Given the description of an element on the screen output the (x, y) to click on. 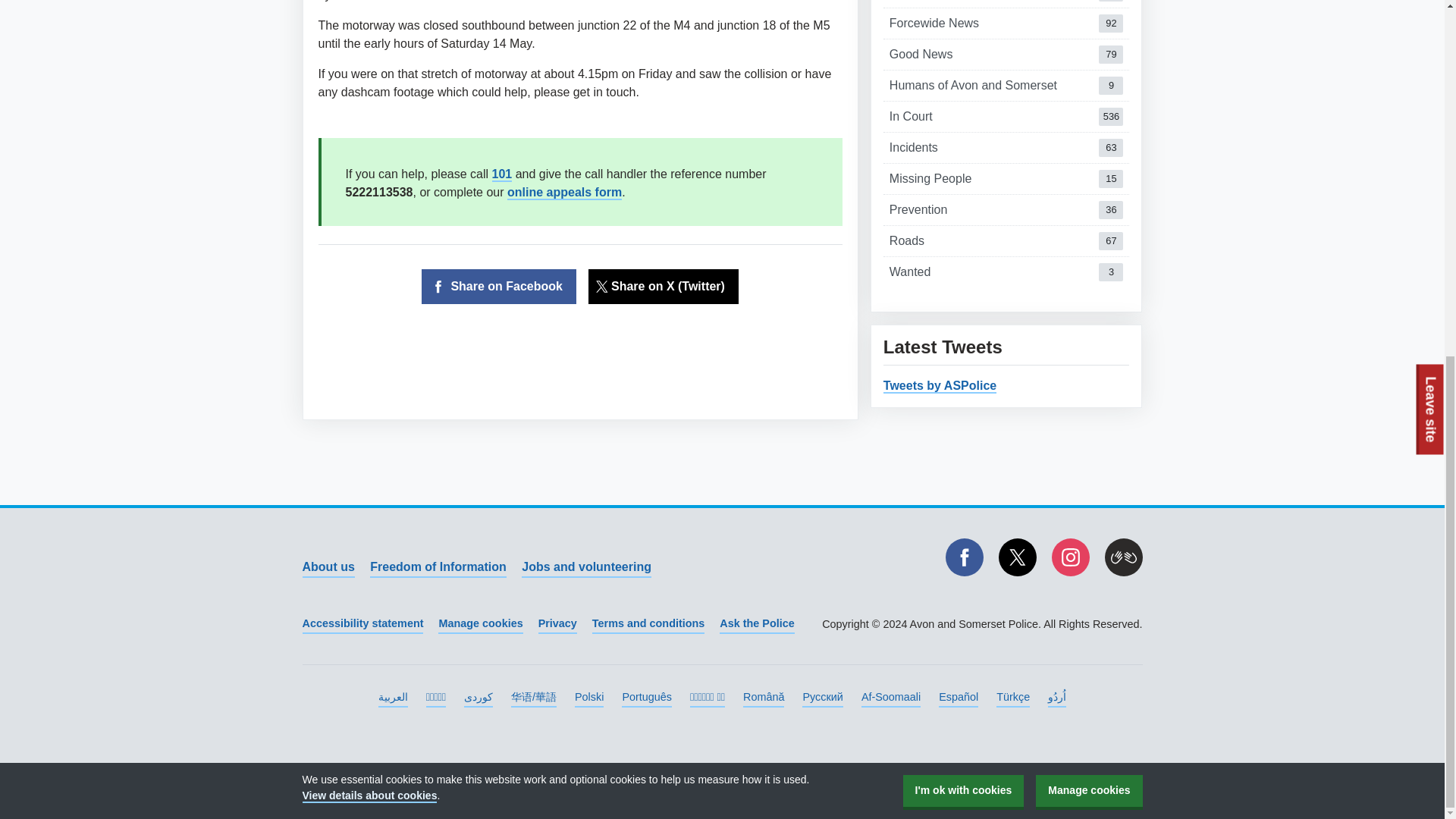
Freedom of Information (1006, 209)
I'm ok with cookies (1006, 23)
Jobs and volunteering (1006, 241)
101 (437, 567)
Accessibility statement (963, 166)
About us (585, 567)
